Given the description of an element on the screen output the (x, y) to click on. 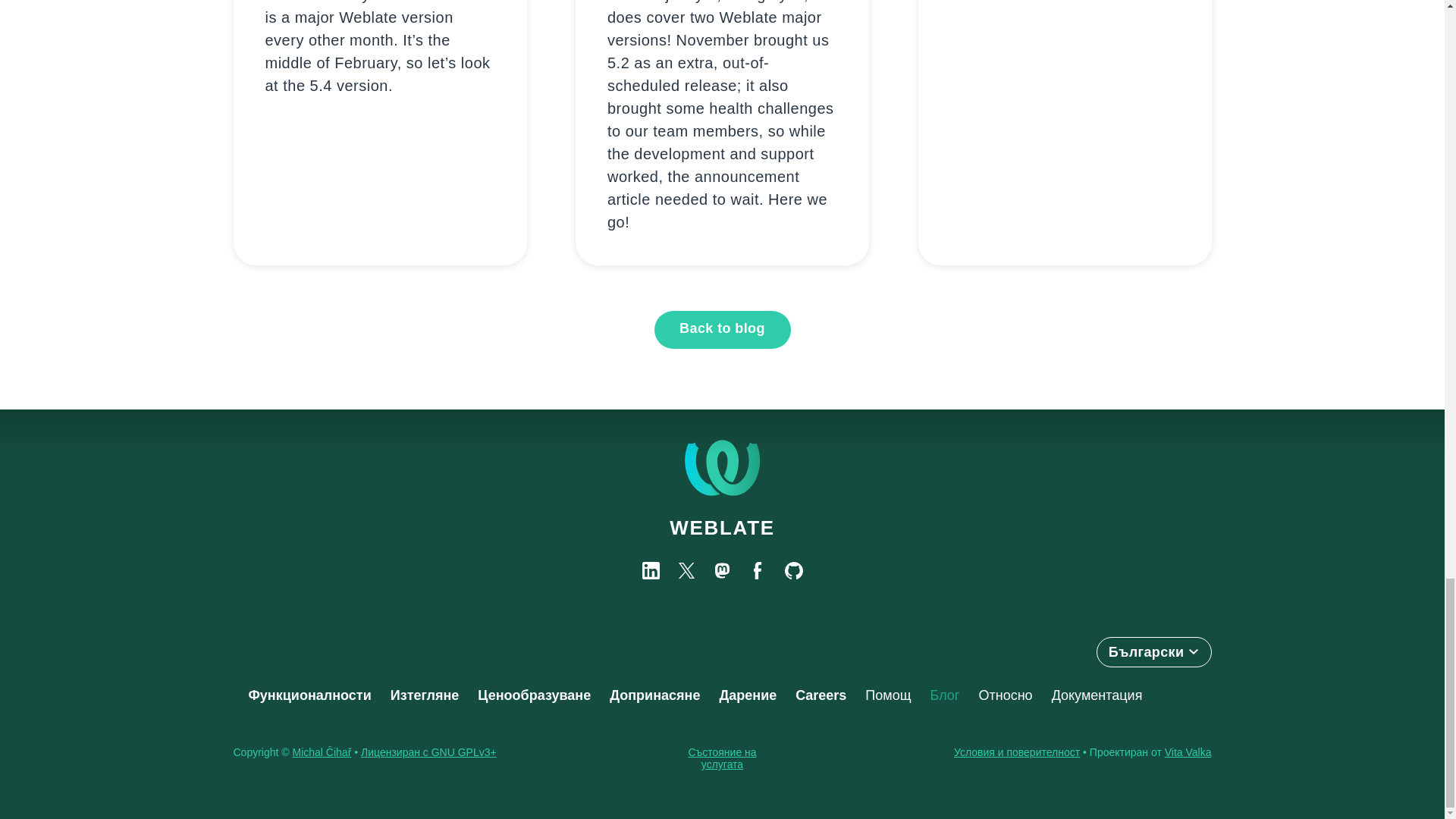
X (686, 570)
Mastodon (722, 570)
Facebook (758, 570)
LinkedIn (650, 570)
GitHub (794, 570)
